Given the description of an element on the screen output the (x, y) to click on. 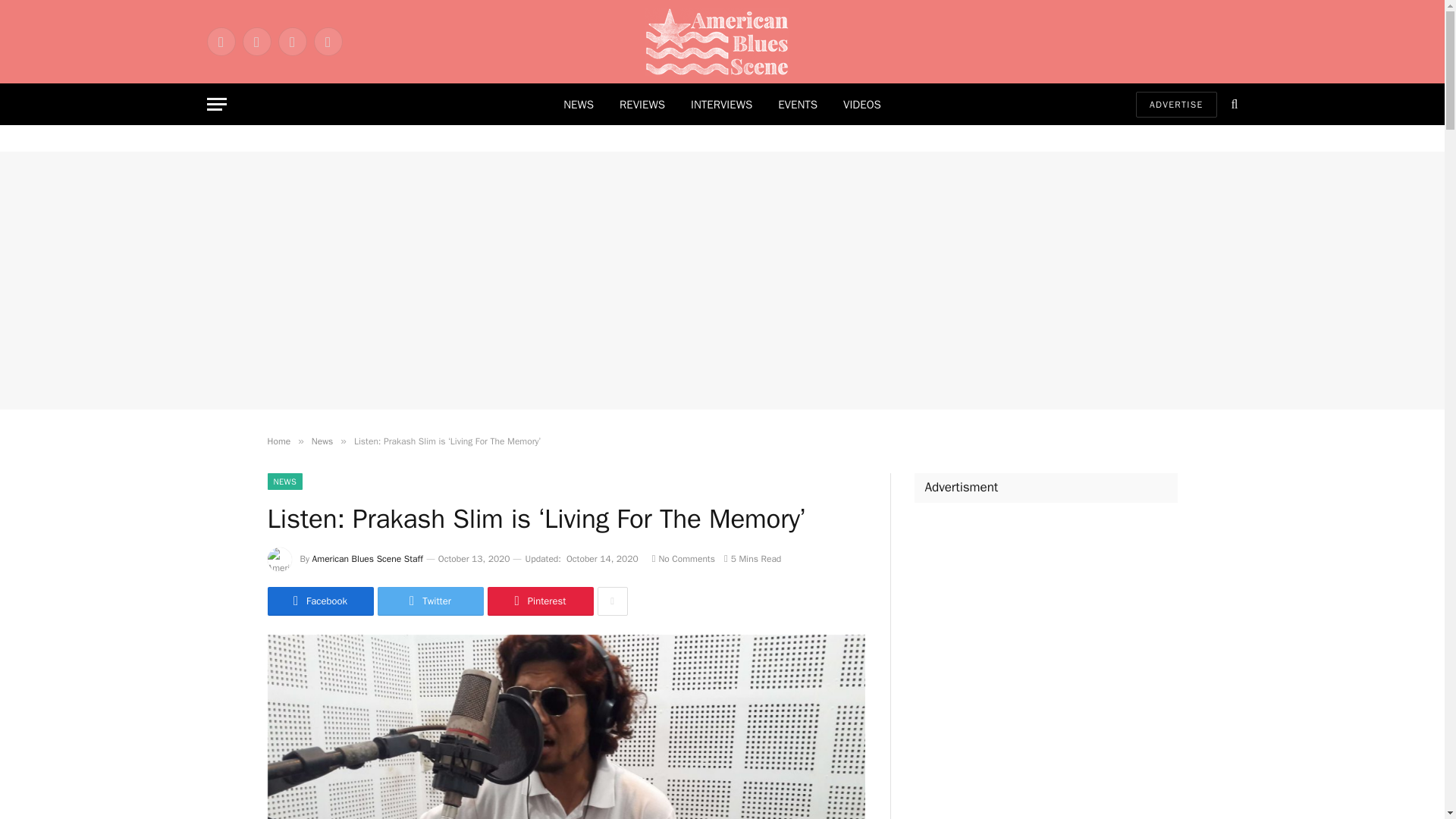
Instagram (291, 41)
Facebook (220, 41)
INTERVIEWS (721, 104)
Share on Facebook (319, 601)
ADVERTISE (1176, 103)
EVENTS (797, 104)
REVIEWS (642, 104)
Twitter (256, 41)
No Comments (683, 558)
